Given the description of an element on the screen output the (x, y) to click on. 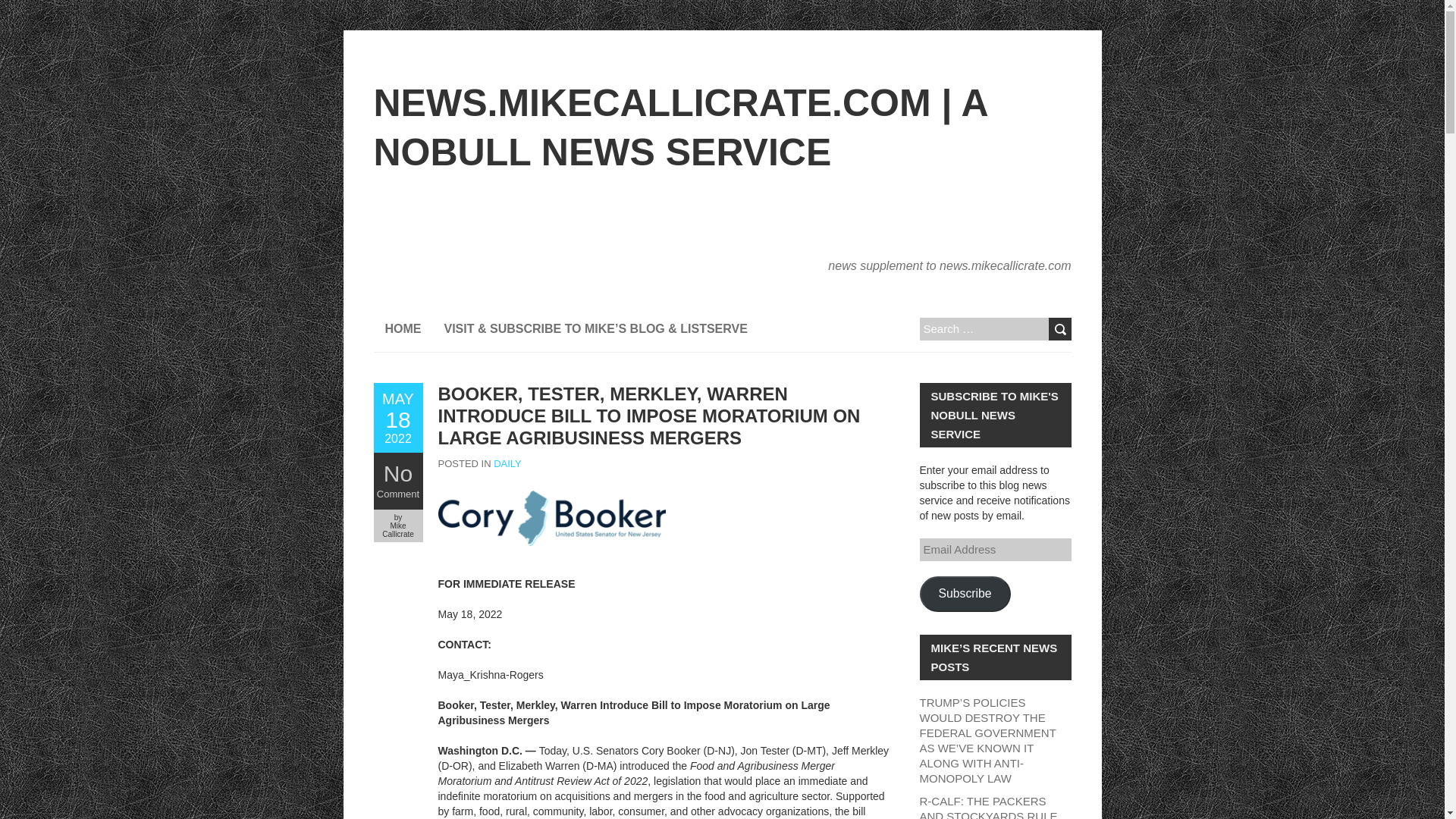
R-CALF: THE PACKERS AND STOCKYARDS RULE IS OUT (987, 806)
Search (1059, 328)
image001-png (551, 518)
DAILY (507, 463)
HOME (402, 329)
No (397, 473)
Search (1059, 328)
Search (1059, 328)
Subscribe (964, 593)
Comment (397, 417)
